Given the description of an element on the screen output the (x, y) to click on. 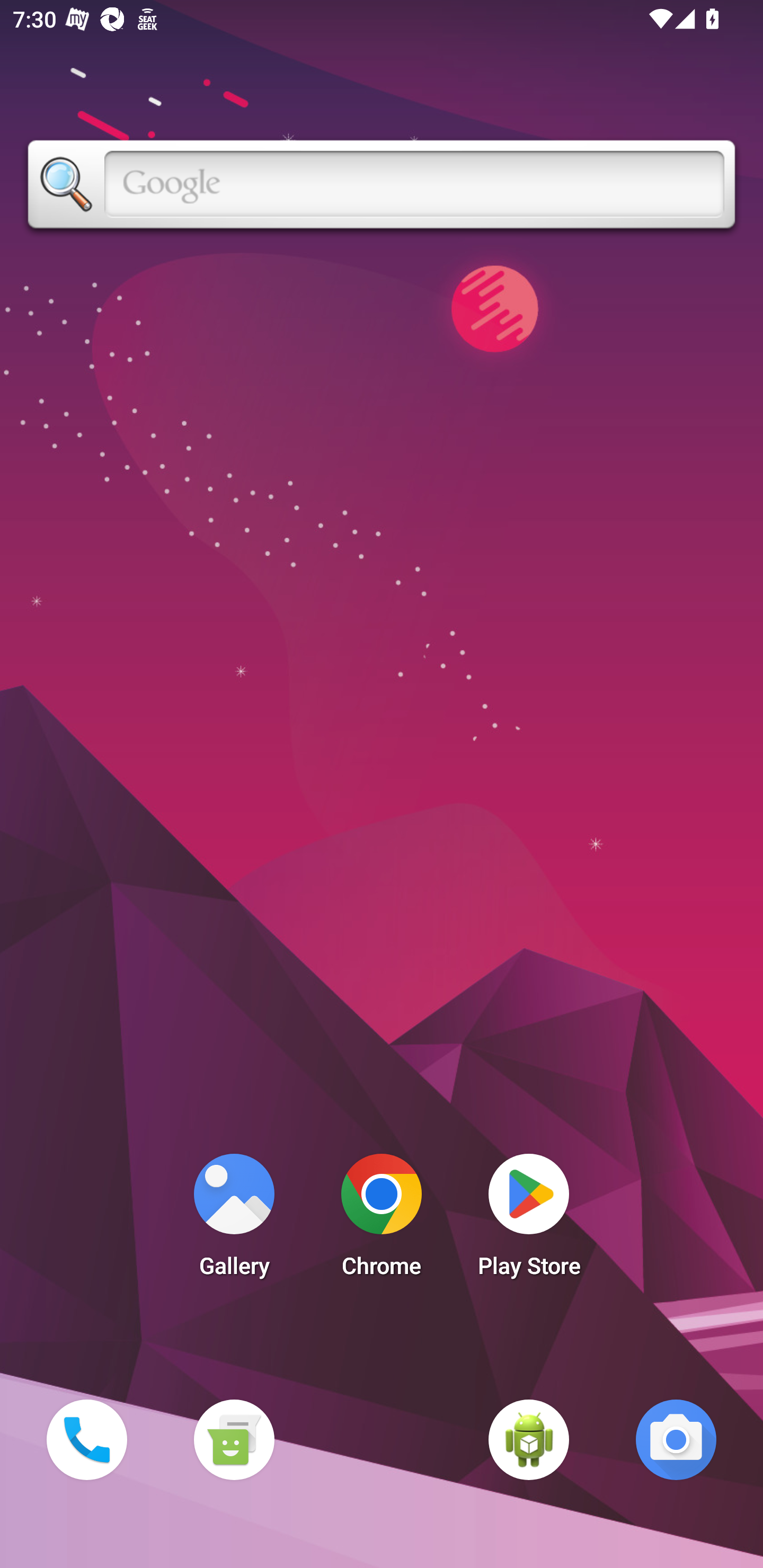
Gallery (233, 1220)
Chrome (381, 1220)
Play Store (528, 1220)
Phone (86, 1439)
Messaging (233, 1439)
WebView Browser Tester (528, 1439)
Camera (676, 1439)
